Given the description of an element on the screen output the (x, y) to click on. 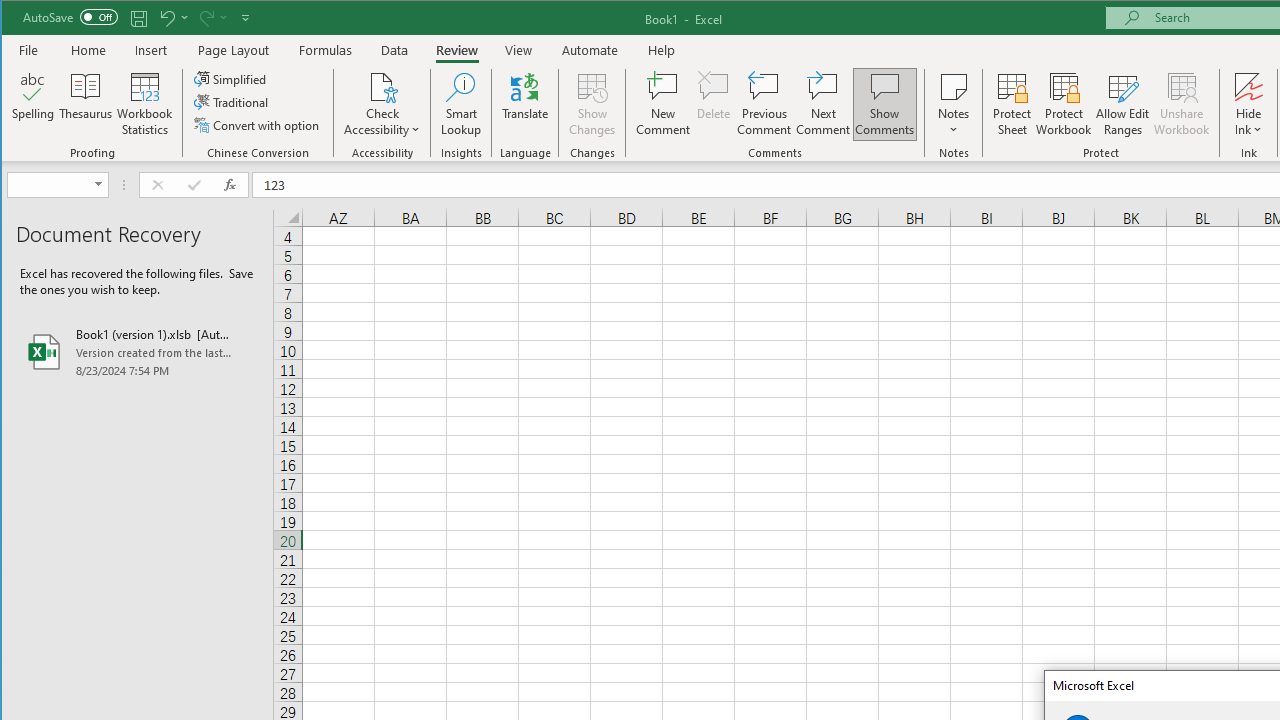
System (19, 18)
Home (88, 50)
Check Accessibility (381, 104)
Next Comment (822, 104)
